Given the description of an element on the screen output the (x, y) to click on. 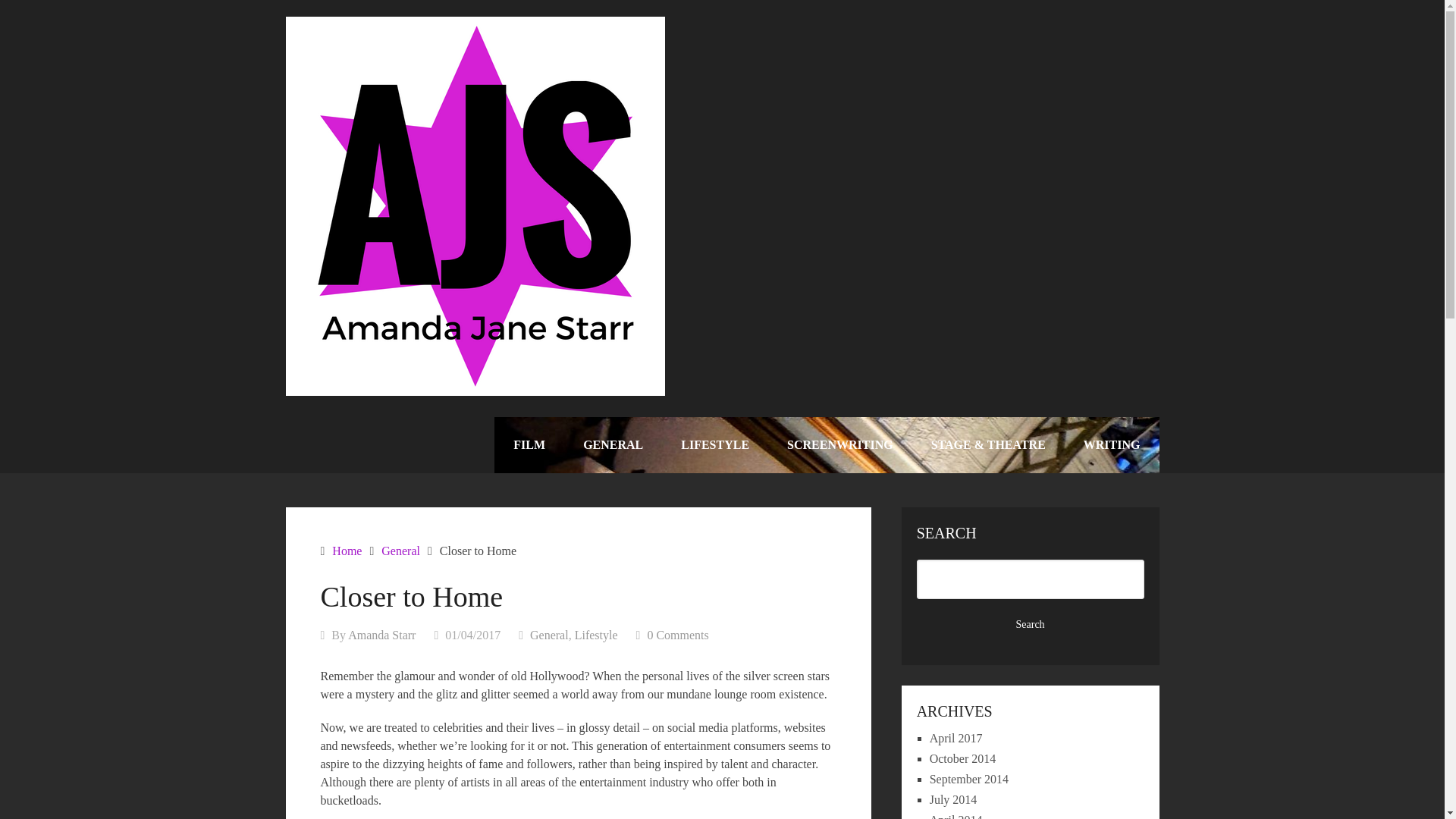
July 2014 (953, 799)
FILM (529, 444)
GENERAL (613, 444)
LIFESTYLE (715, 444)
WRITING (1111, 444)
April 2017 (956, 738)
Search (1030, 624)
SCREENWRITING (840, 444)
April 2014 (956, 816)
Home (346, 550)
